Given the description of an element on the screen output the (x, y) to click on. 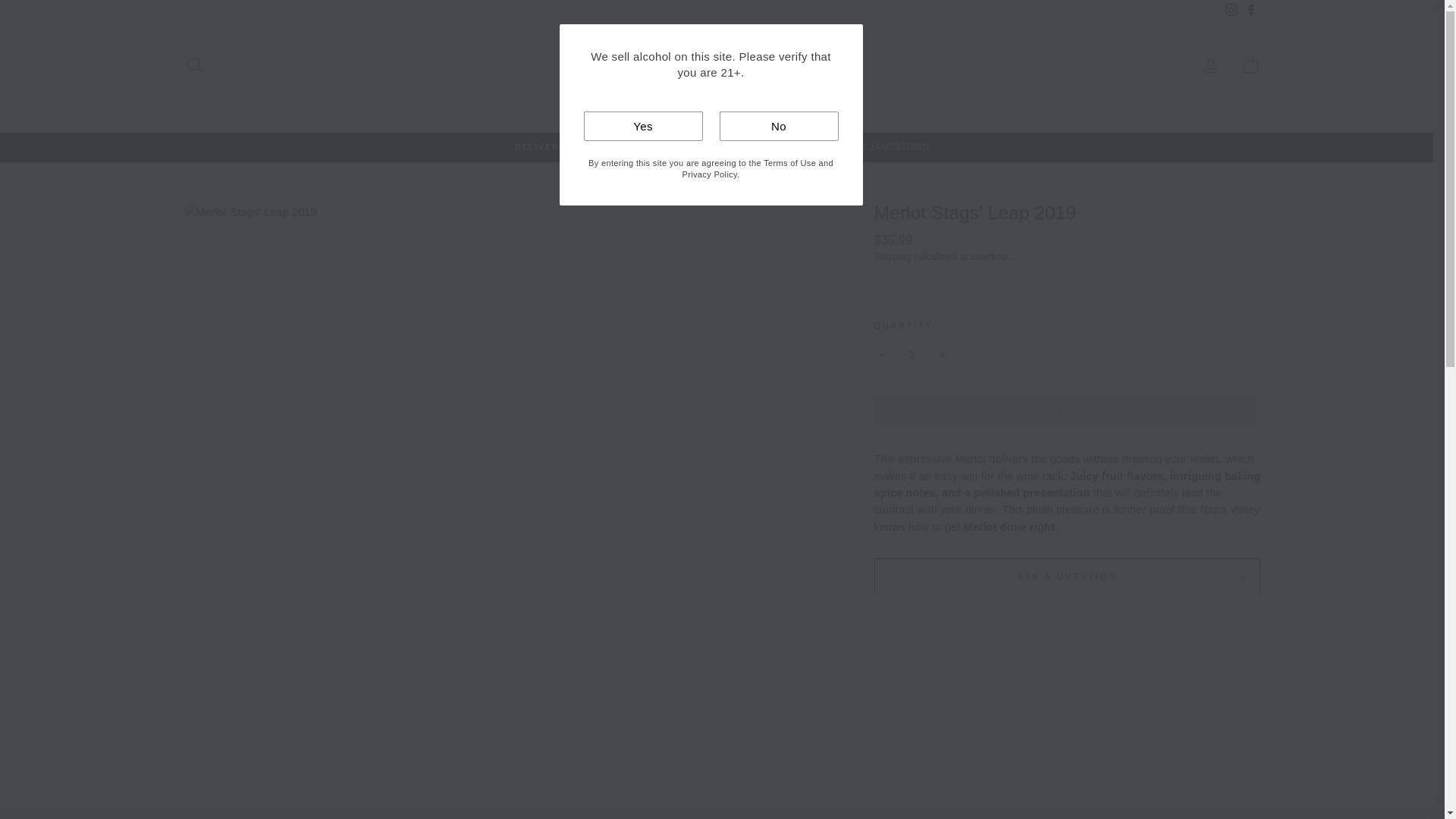
SEARCH (830, 104)
HOME (606, 104)
No (778, 125)
CART (1249, 65)
Facebook (1250, 11)
CONTACT (755, 104)
1 (912, 354)
Shipping (893, 257)
Instagram (1230, 11)
SHOP ALL (675, 104)
Yes (643, 125)
LOG IN (1210, 65)
SEARCH (194, 65)
